Given the description of an element on the screen output the (x, y) to click on. 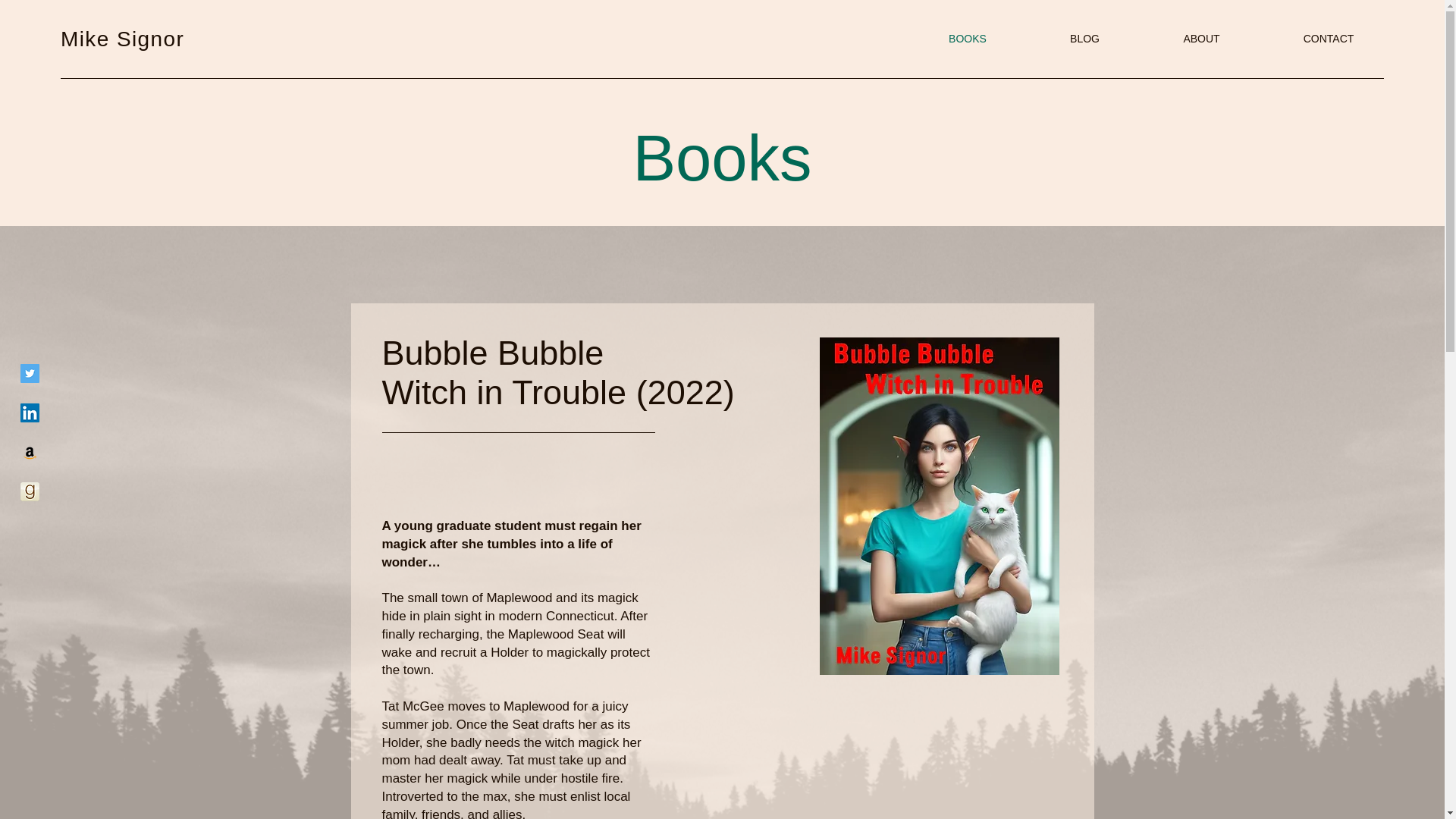
ABOUT (1201, 38)
Mike Signor (122, 38)
BOOKS (967, 38)
CONTACT (1328, 38)
BLOG (1084, 38)
